Given the description of an element on the screen output the (x, y) to click on. 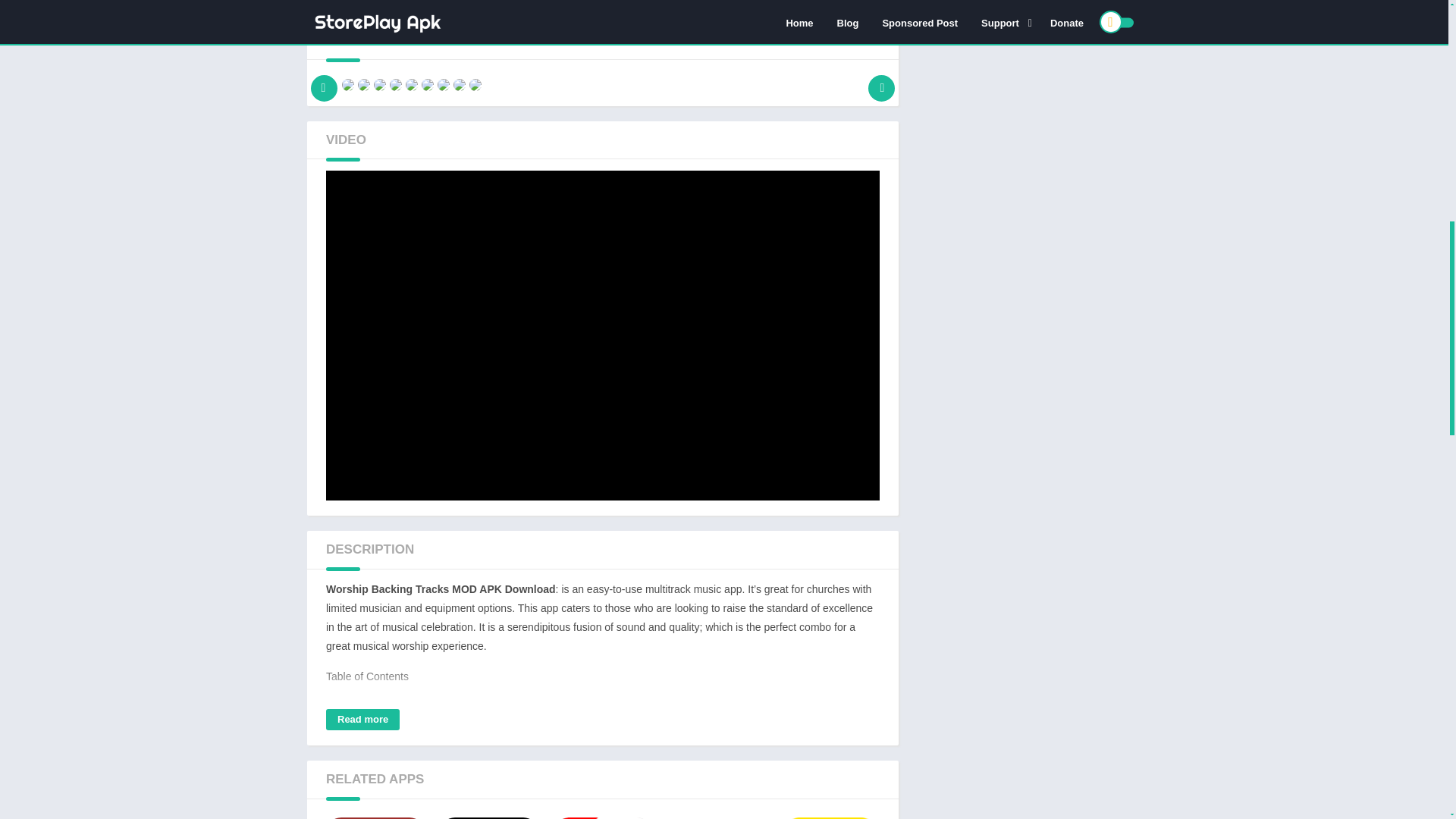
Previous (323, 80)
Next (881, 80)
